Given the description of an element on the screen output the (x, y) to click on. 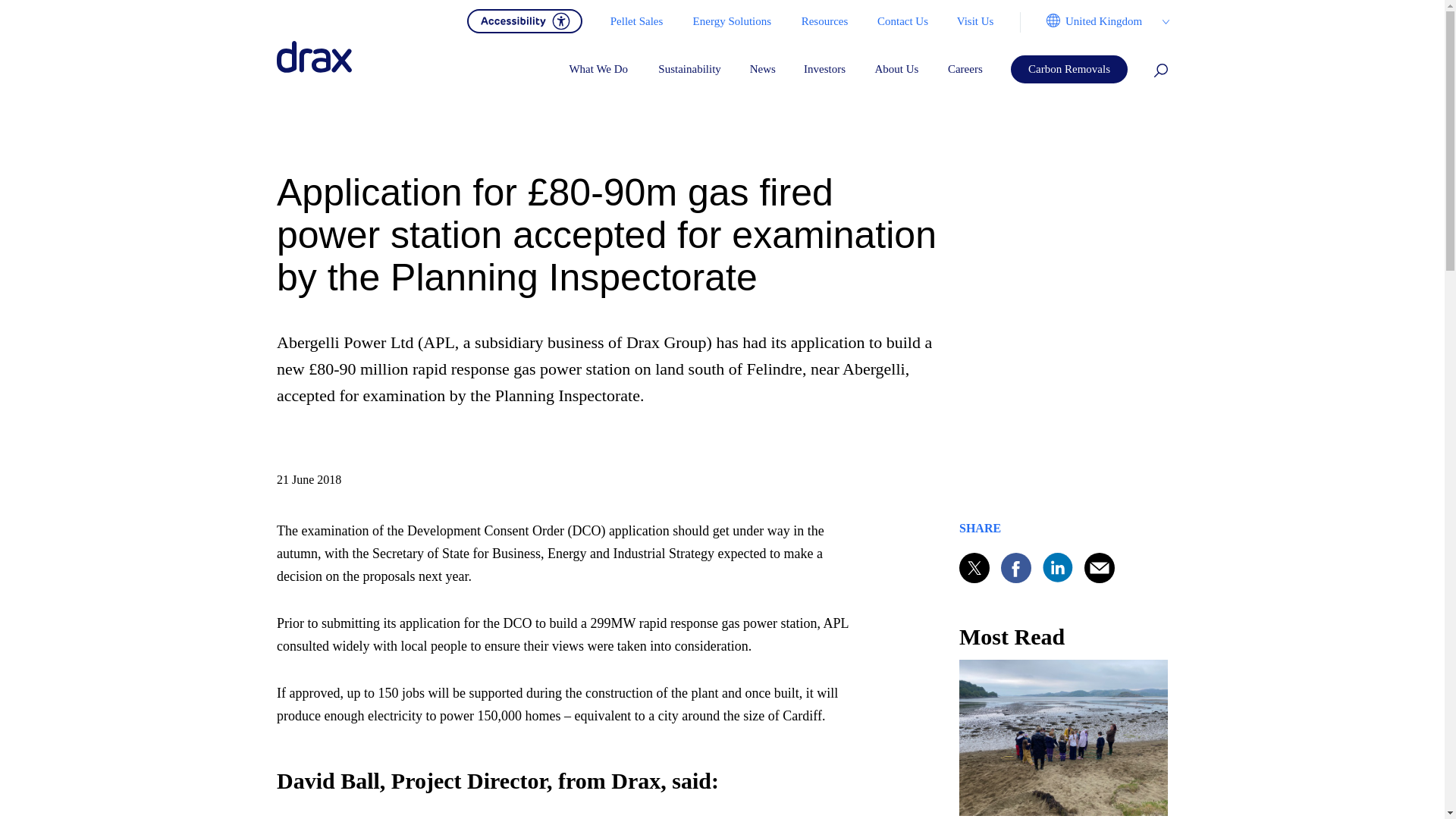
Email (1099, 567)
Facebook (1015, 567)
Accessibility Tools (524, 19)
Visit Us (974, 20)
Pellet Sales (636, 20)
X (974, 567)
Contact Us (901, 20)
LinkedIn (1057, 567)
Energy Solutions (732, 20)
United Kingdom (1093, 20)
Resources (823, 20)
